Given the description of an element on the screen output the (x, y) to click on. 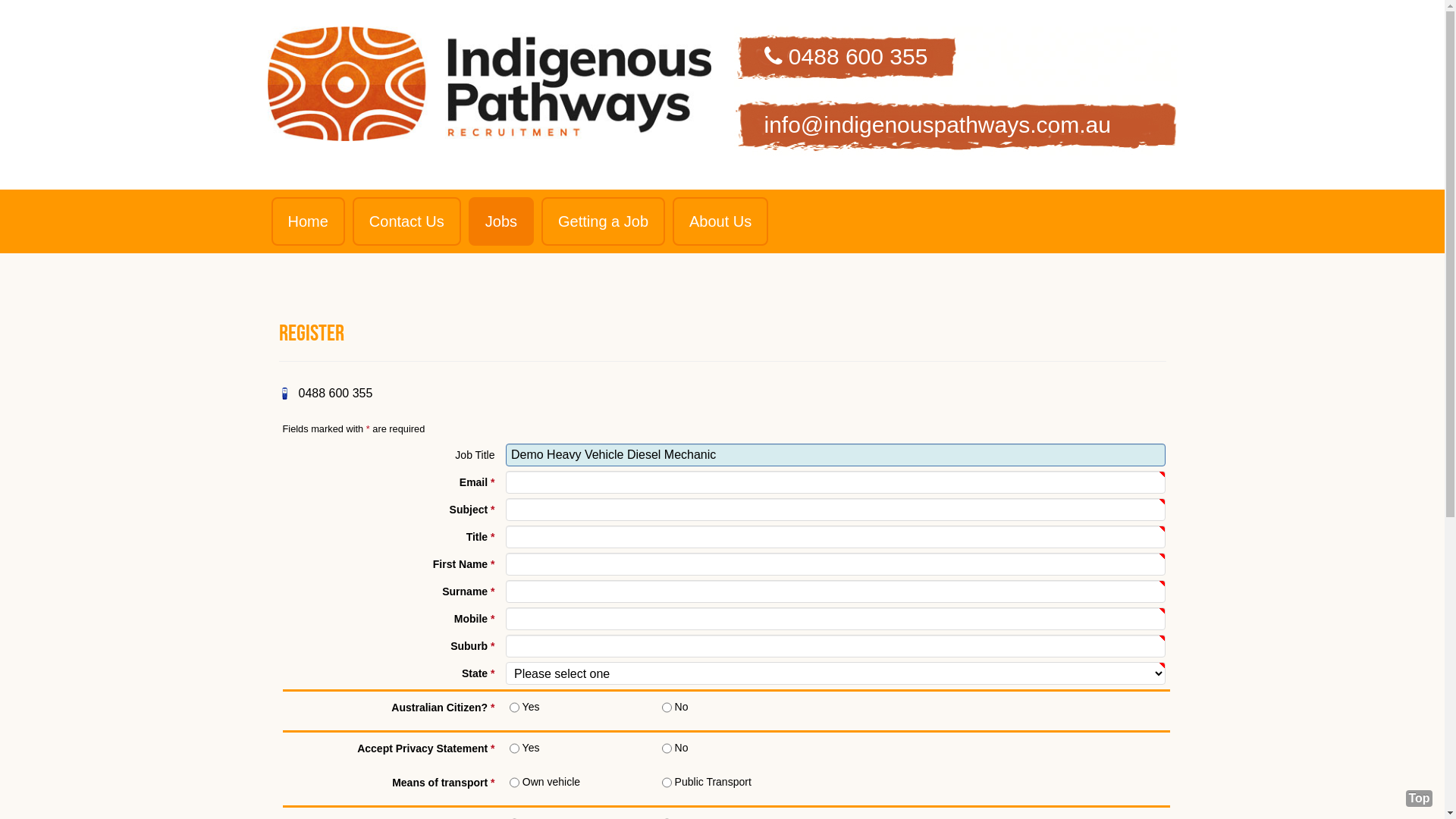
Home Element type: text (308, 221)
Yes Element type: text (514, 707)
Jobs Element type: text (500, 221)
Contact Us Element type: text (406, 221)
About Us Element type: text (720, 221)
Getting a Job Element type: text (603, 221)
No Element type: text (666, 707)
Top Element type: text (1418, 798)
Mobile Element type: hover (285, 393)
0488 600 355 Element type: text (955, 56)
info@indigenouspathways.com.au Element type: text (955, 124)
